Given the description of an element on the screen output the (x, y) to click on. 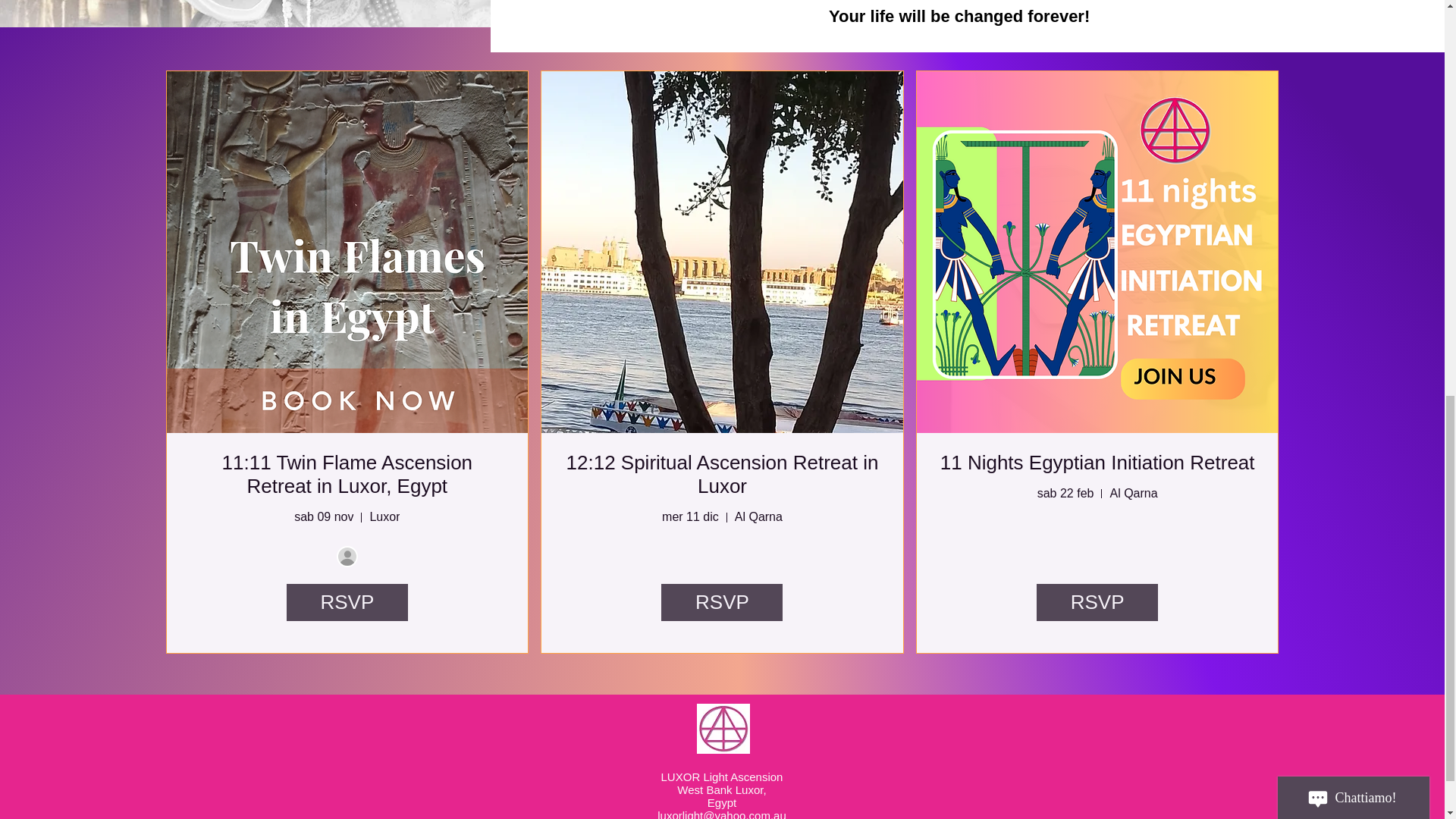
RSVP (346, 601)
11 Nights Egyptian Initiation Retreat (1097, 462)
12:12 Spiritual Ascension Retreat in Luxor (722, 474)
RSVP (1096, 601)
11:11 Twin Flame Ascension Retreat in Luxor, Egypt (346, 474)
RSVP (722, 601)
